Given the description of an element on the screen output the (x, y) to click on. 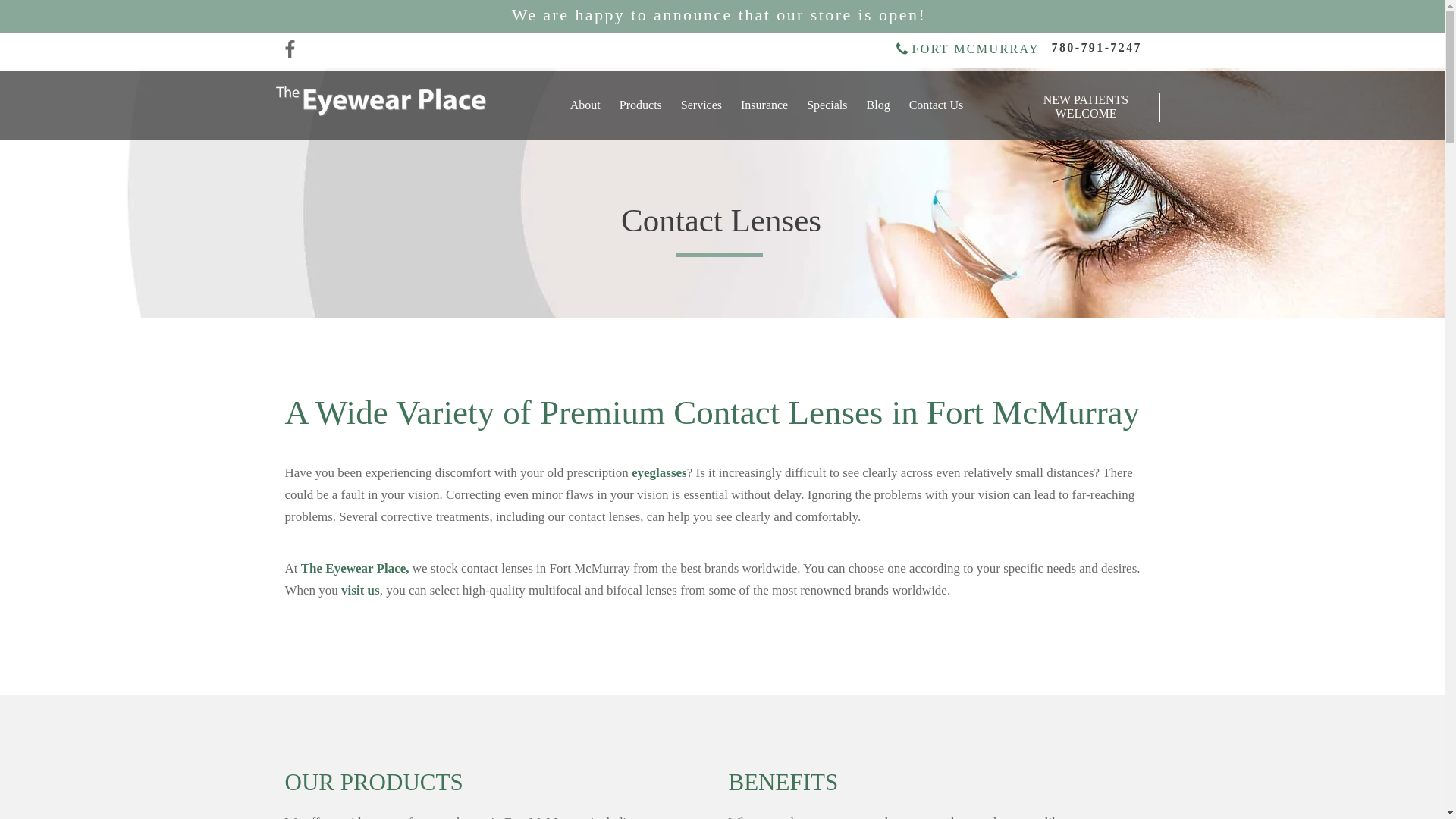
eyeglasses (659, 474)
The Eyewear Place, (355, 569)
Insurance (761, 106)
NEW PATIENTS WELCOME (1084, 106)
Blog (877, 106)
Contact Us (934, 106)
Specials (824, 106)
780-791-7247 (1096, 49)
About (583, 106)
visit us (360, 592)
